Given the description of an element on the screen output the (x, y) to click on. 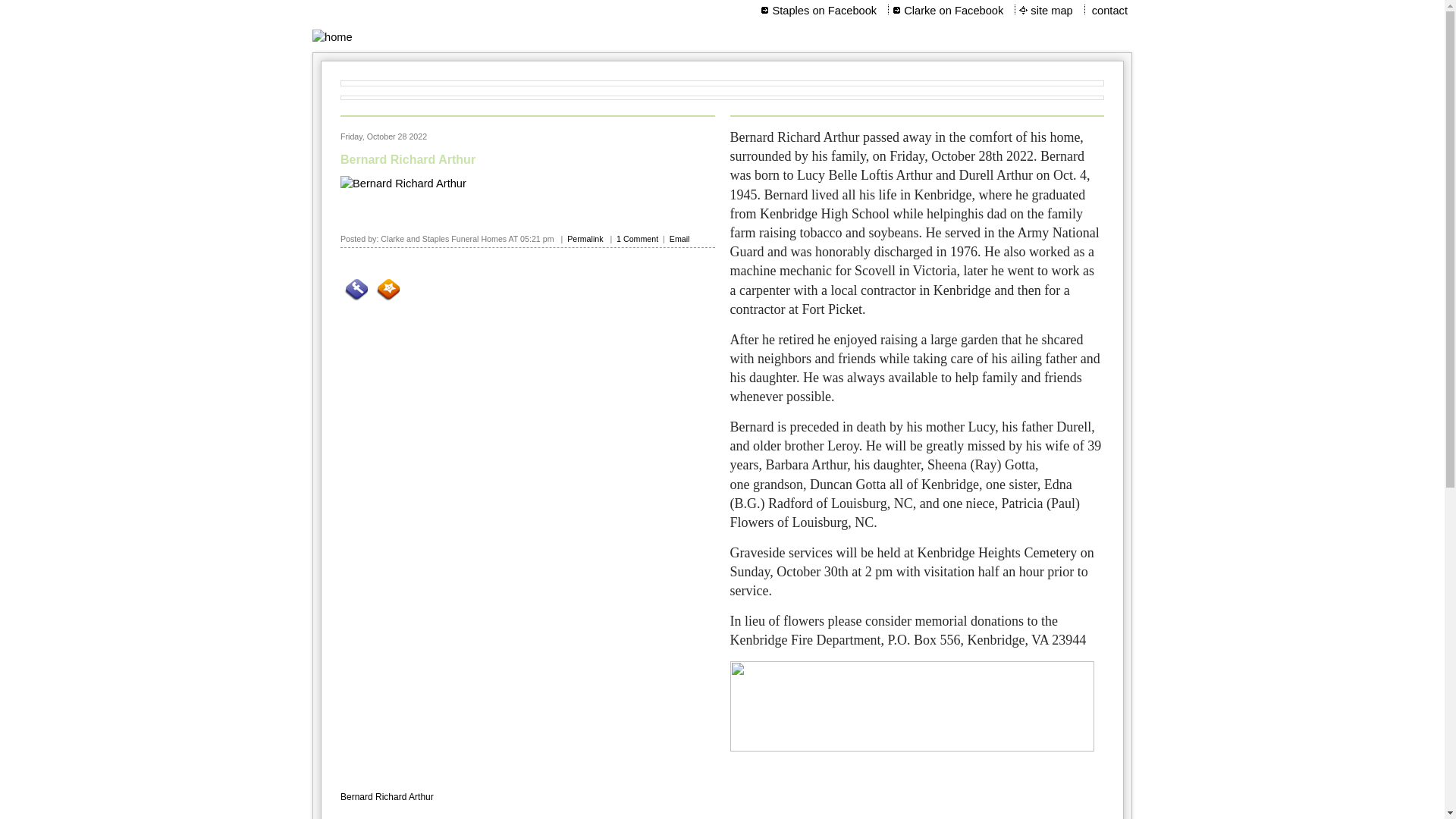
Email (679, 238)
Permalink (584, 238)
Clarke on Facebook (954, 10)
Staples on Facebook (824, 10)
Bernard Richard Arthur (408, 159)
1 Comment (636, 238)
Bernard Richard Arthur (386, 796)
site map (1052, 10)
contact (1110, 10)
